Given the description of an element on the screen output the (x, y) to click on. 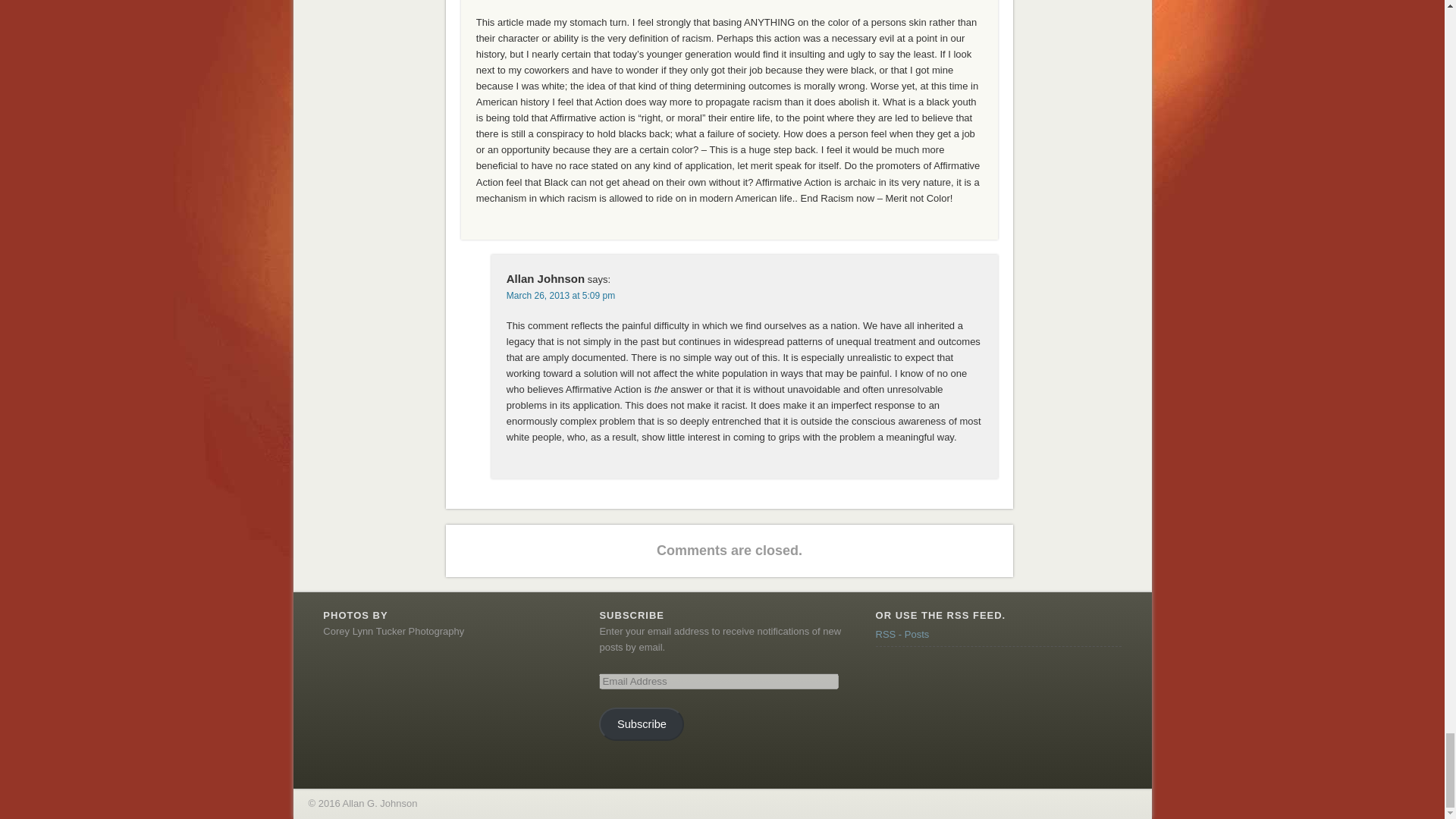
Subscribe to posts (903, 633)
